Given the description of an element on the screen output the (x, y) to click on. 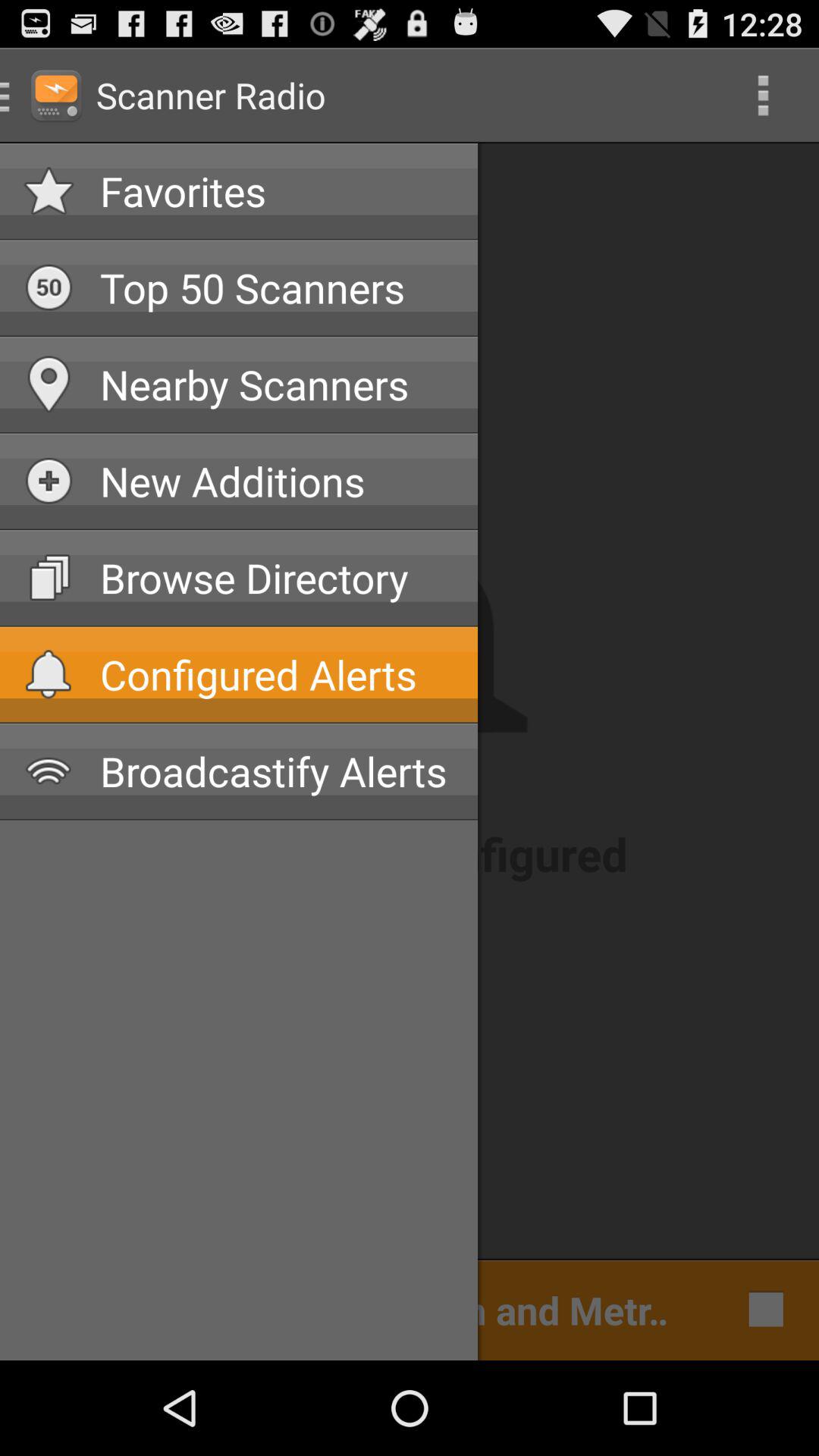
tap cleveland police dispatch item (352, 1309)
